Given the description of an element on the screen output the (x, y) to click on. 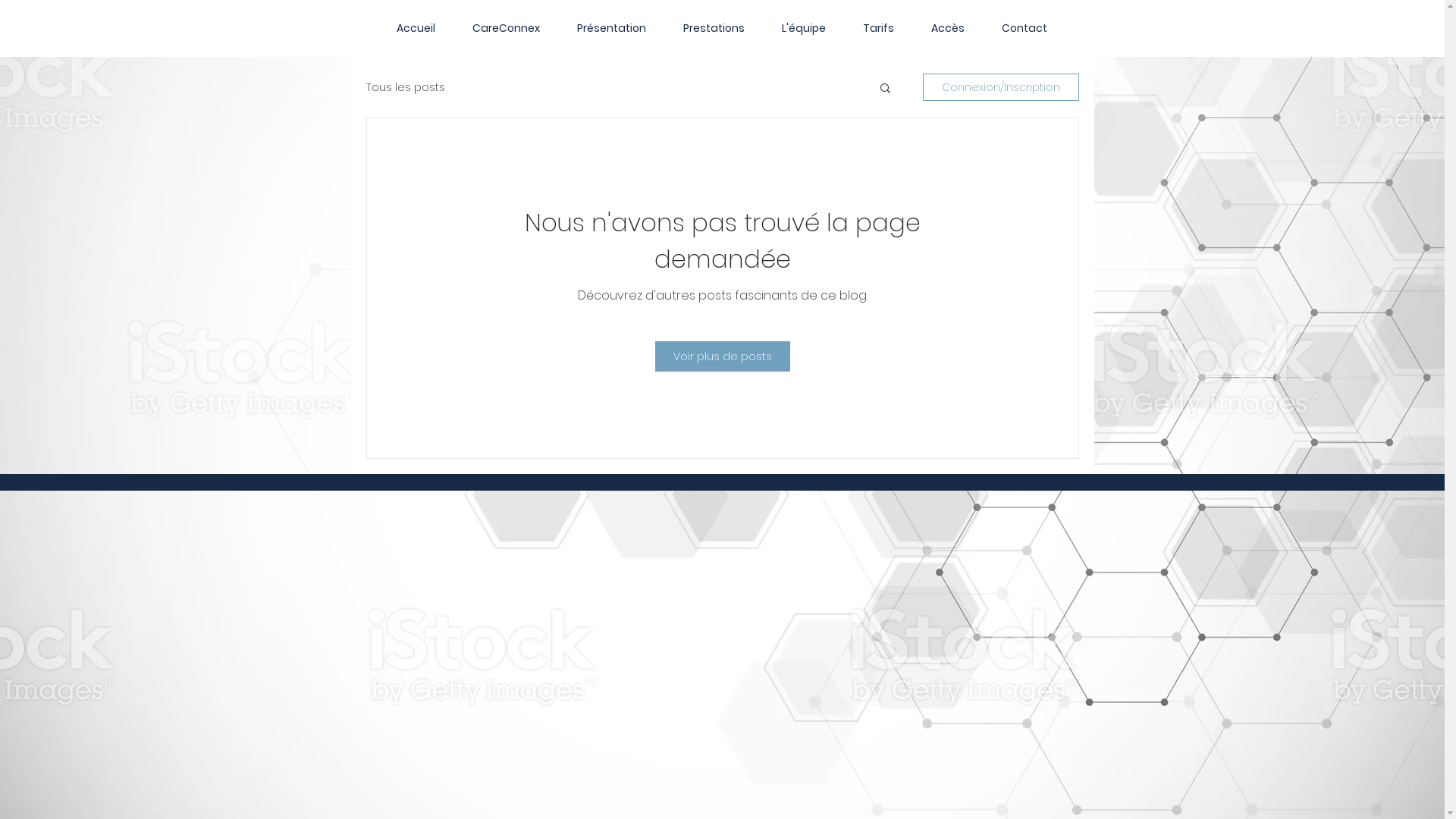
Tous les posts Element type: text (404, 86)
CareConnex Element type: text (505, 28)
Prestations Element type: text (713, 28)
Accueil Element type: text (415, 28)
Contact Element type: text (1023, 28)
Tarifs Element type: text (878, 28)
Connexion/Inscription Element type: text (1000, 86)
Voir plus de posts Element type: text (722, 356)
